Given the description of an element on the screen output the (x, y) to click on. 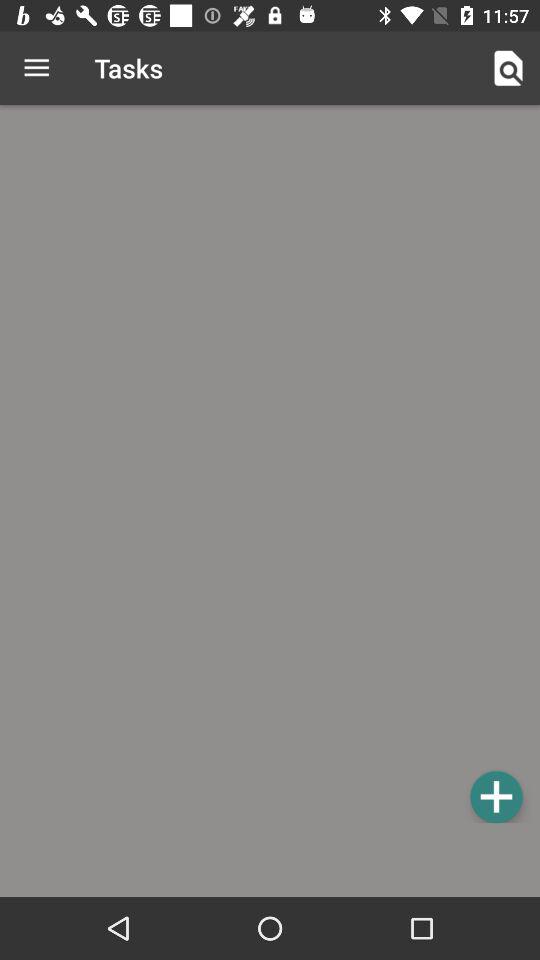
turn off the item at the center (269, 467)
